Given the description of an element on the screen output the (x, y) to click on. 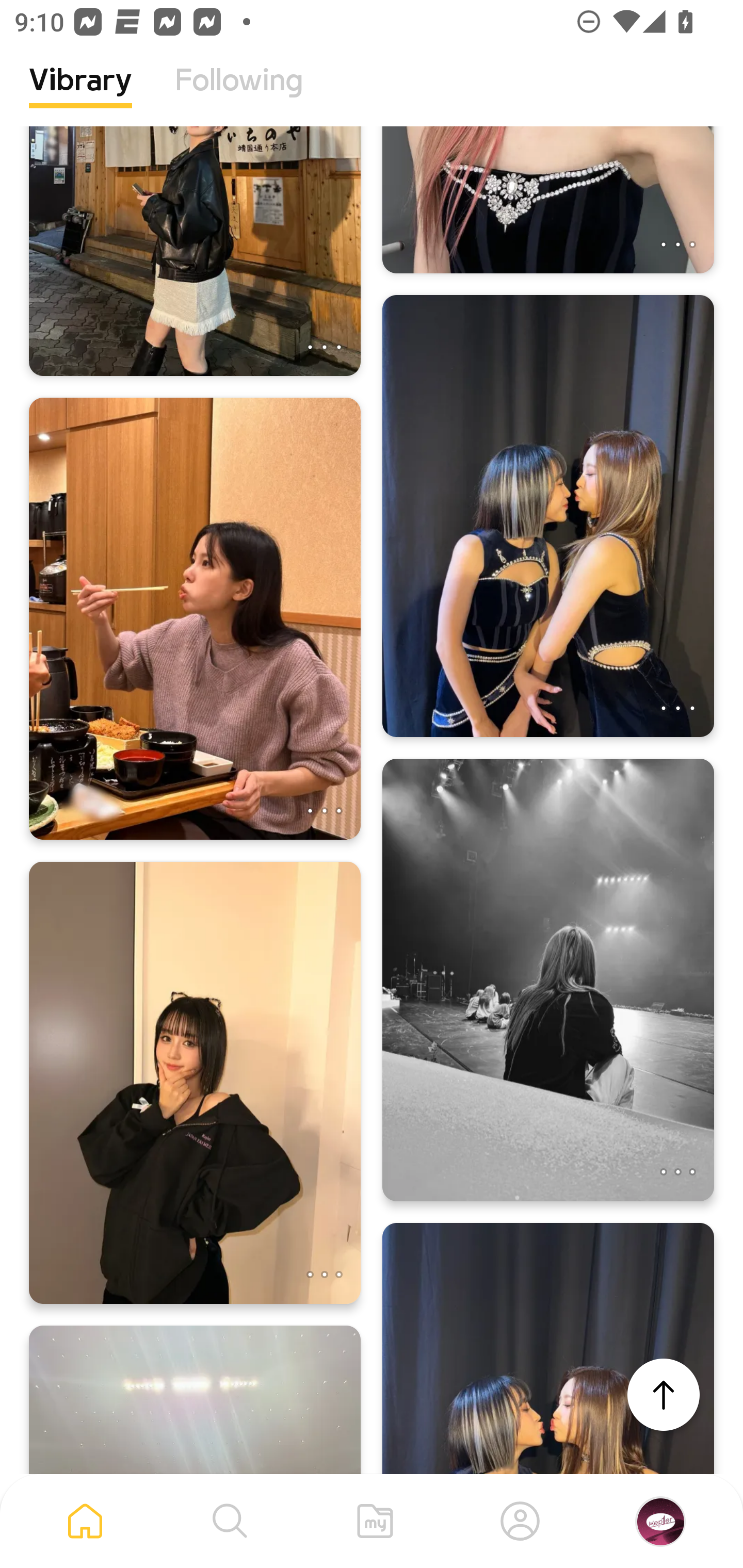
Vibrary (80, 95)
Following (239, 95)
